Given the description of an element on the screen output the (x, y) to click on. 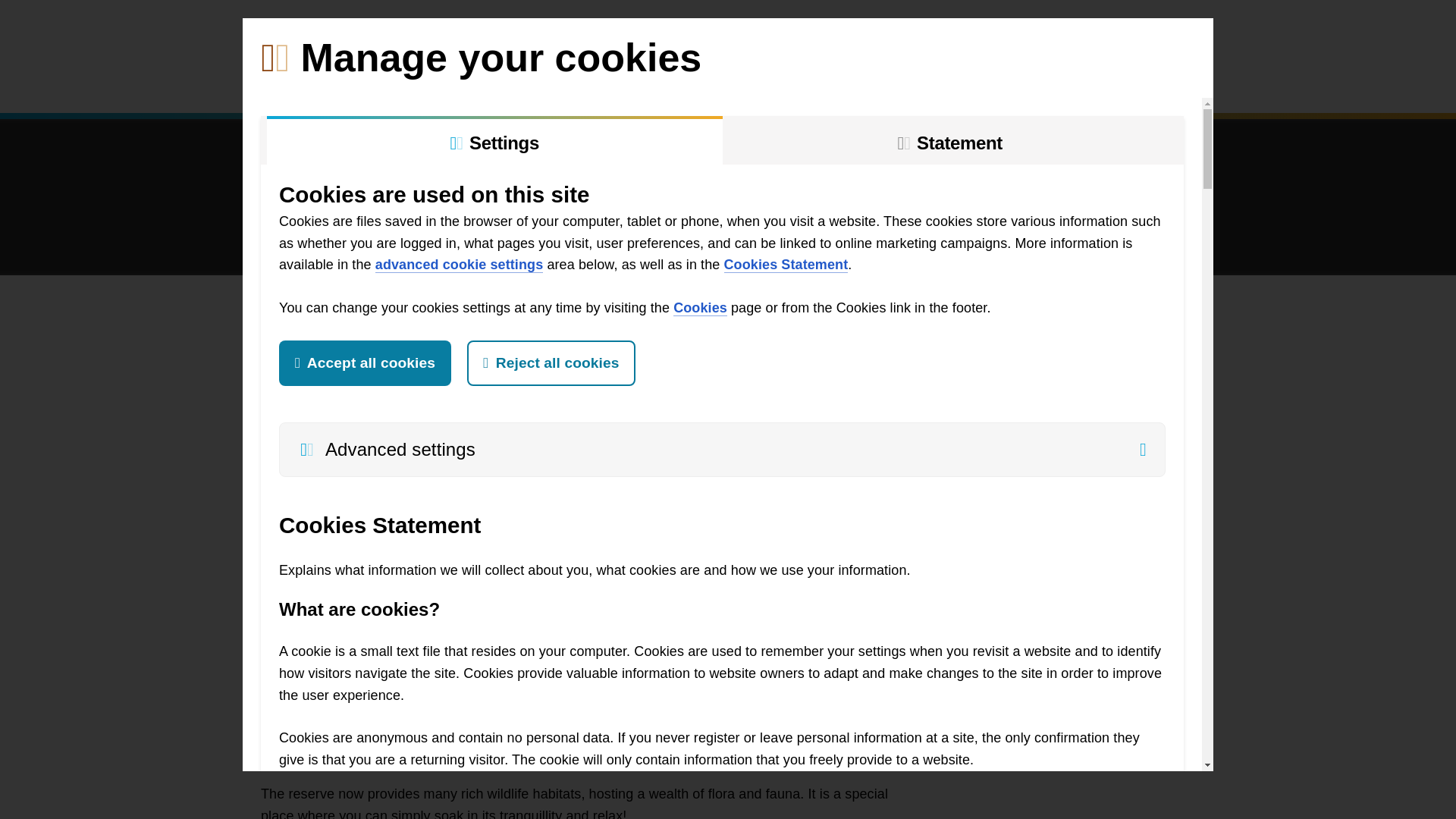
Home (283, 83)
Contact (1039, 83)
Conservation and Safety (687, 83)
List of East Riding Culture and Leisure sites (379, 33)
Countryside (538, 83)
What's on (831, 83)
Directory of beaches, parks and reserves in the East Riding (1185, 32)
Coast (443, 83)
Volunteering (356, 83)
